Given the description of an element on the screen output the (x, y) to click on. 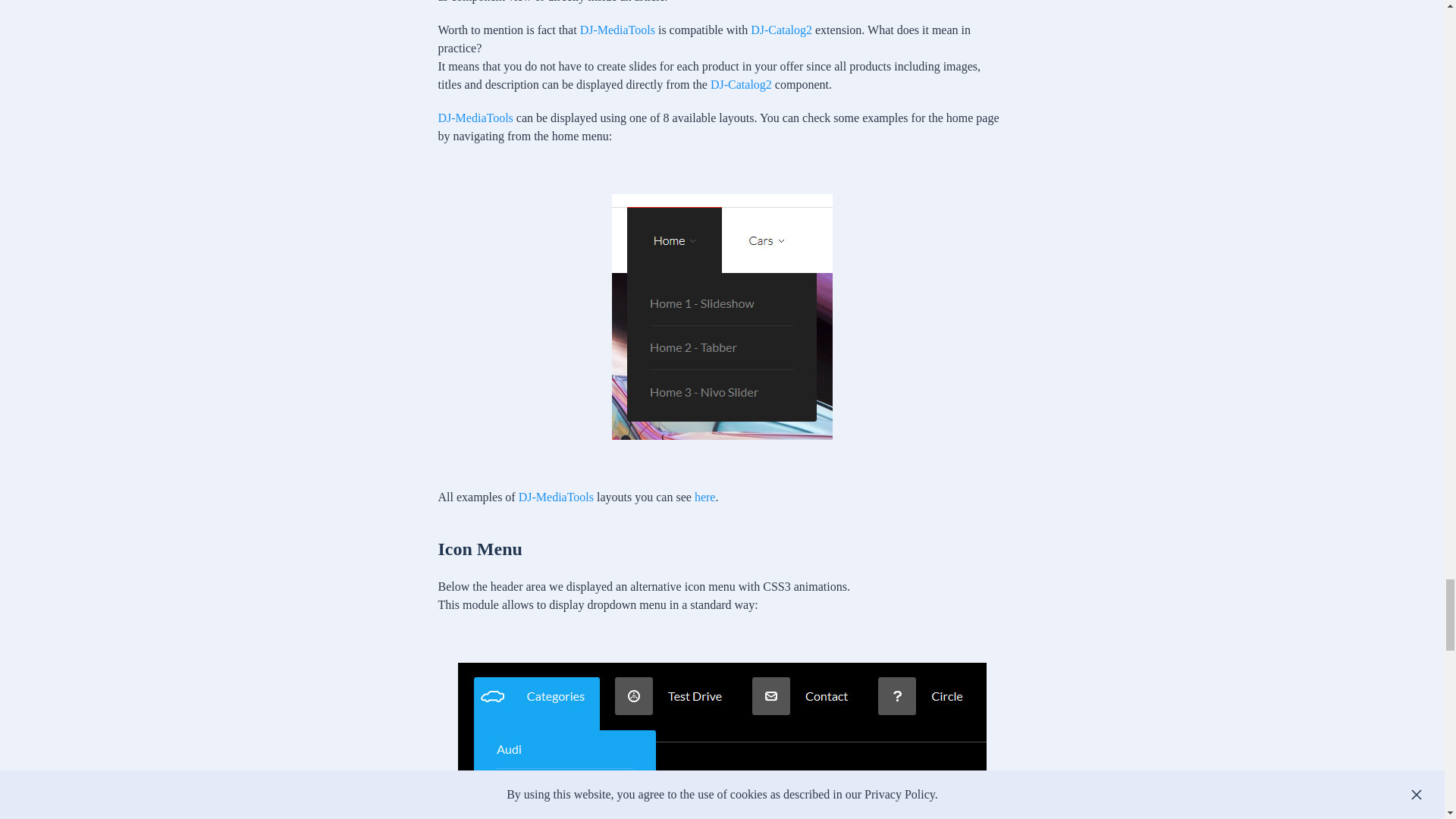
DJ-Catalog2 (781, 29)
DJ-MediaTools examples (705, 496)
DJ-MediaTools (556, 496)
DJ-MediaTools (617, 29)
DJ-MediaTools (617, 29)
DJ-Catalog2 (781, 29)
DJ-Catalog2 (740, 83)
DJ-MediaTools (475, 117)
